Given the description of an element on the screen output the (x, y) to click on. 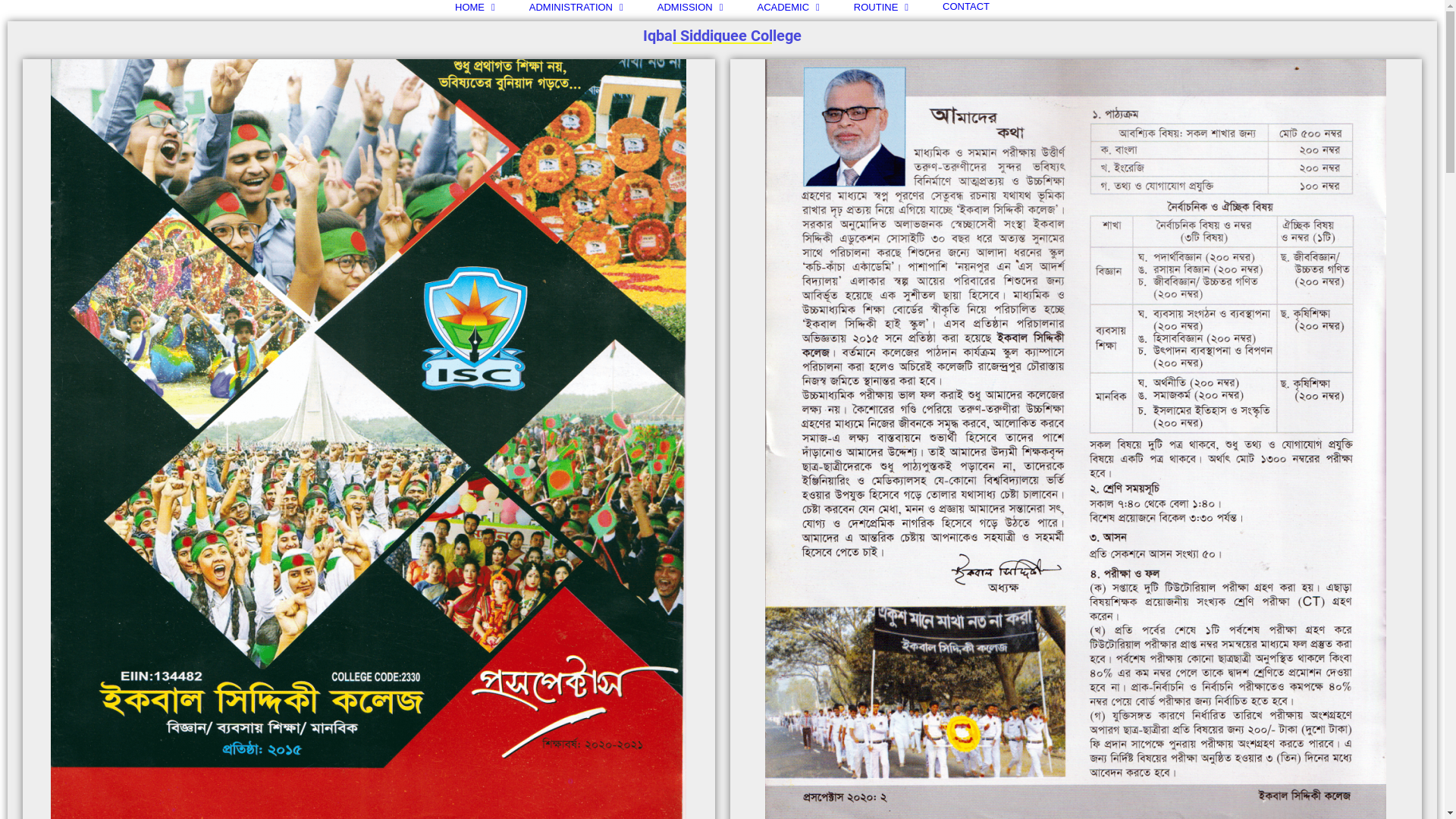
ADMISSION Element type: text (690, 6)
ACADEMIC Element type: text (787, 6)
HOME Element type: text (475, 6)
ADMINISTRATION Element type: text (576, 6)
CONTACT Element type: text (965, 6)
ROUTINE Element type: text (880, 6)
